Given the description of an element on the screen output the (x, y) to click on. 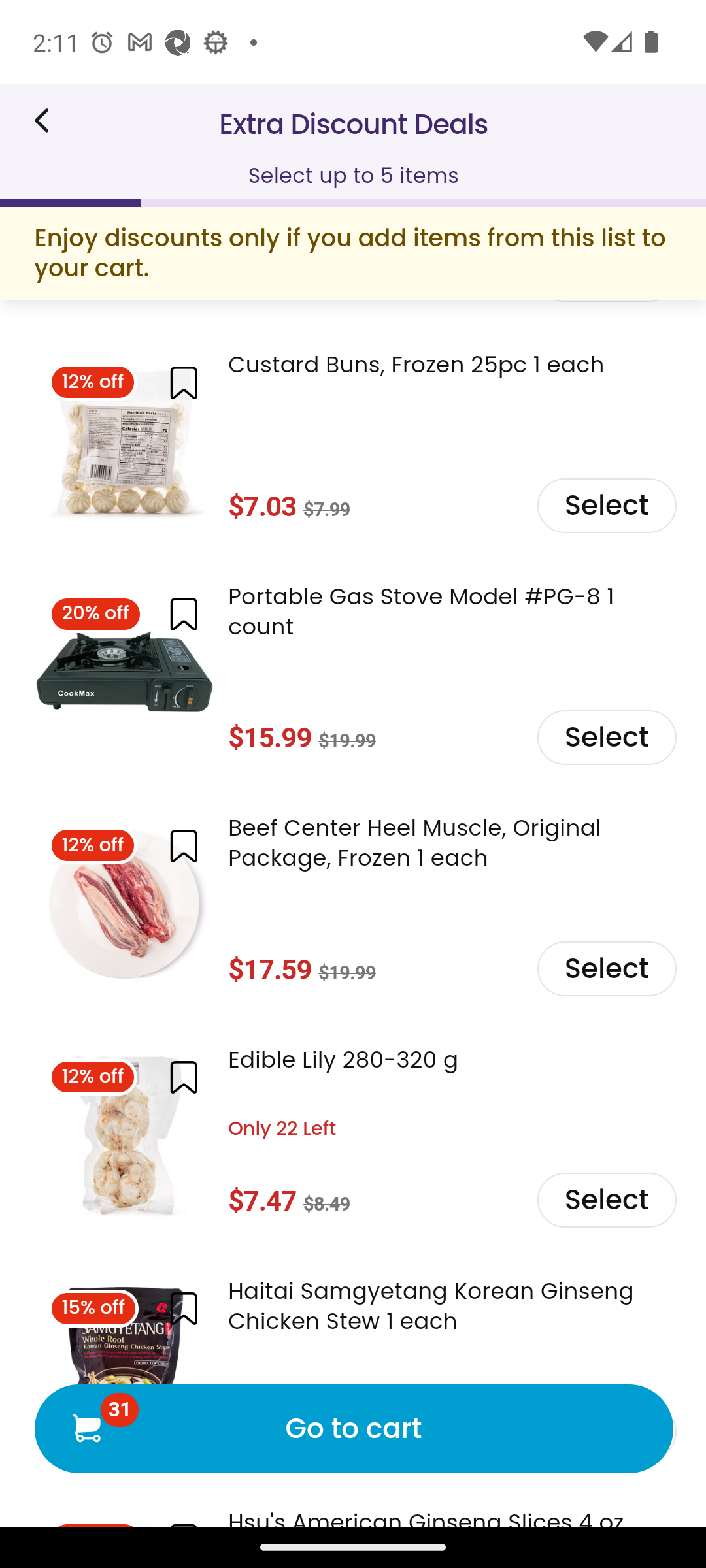
Weee! - Groceries Delivered (47, 119)
 (182, 381)
Select (606, 506)
 (182, 614)
Select (606, 736)
 (182, 845)
Select (606, 969)
 (182, 1076)
Select (606, 1200)
 (182, 1309)
31  (86, 1428)
